Given the description of an element on the screen output the (x, y) to click on. 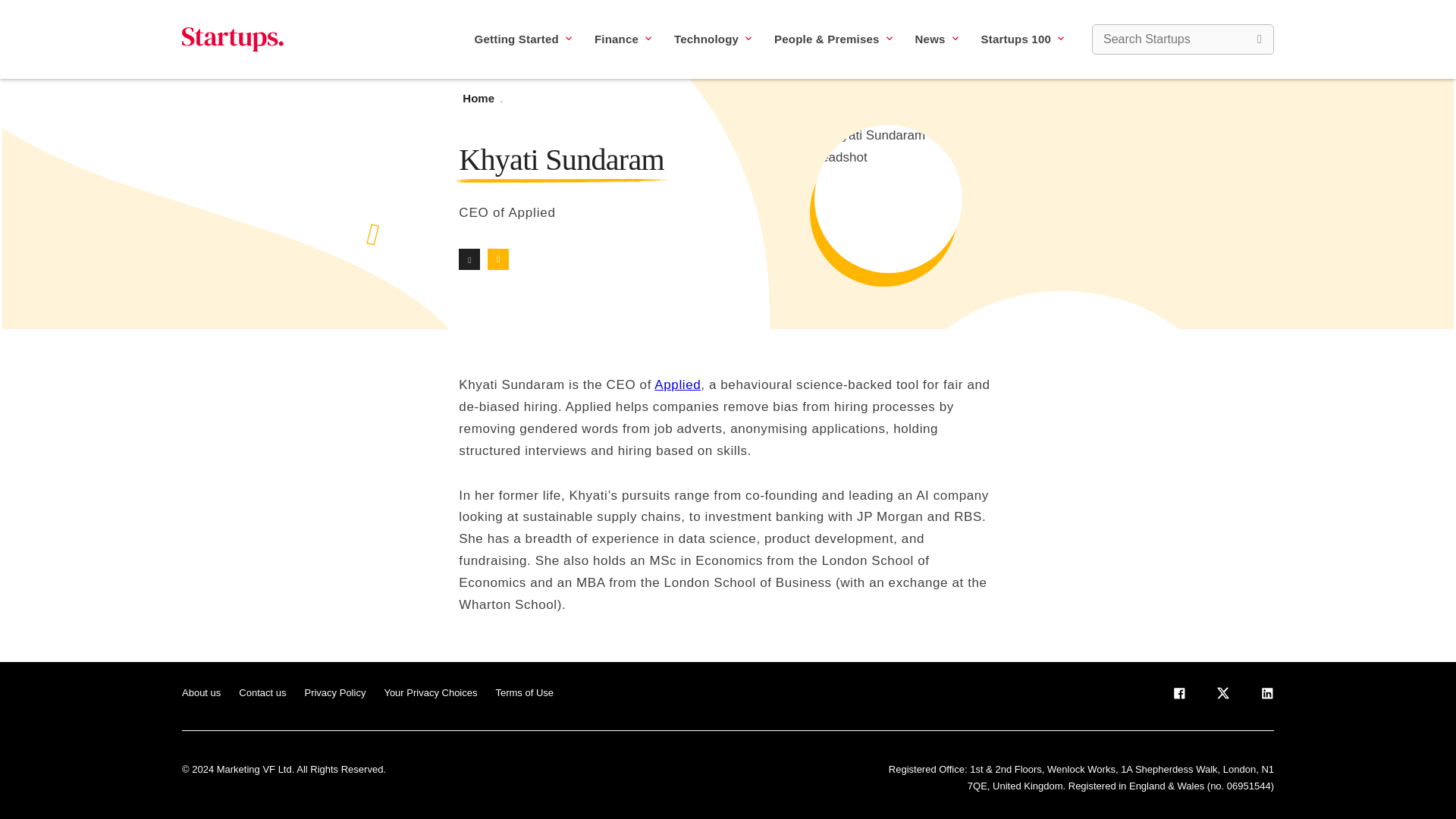
linkedin (1267, 696)
Getting Started (523, 39)
twitter-x (1222, 696)
facebook (1179, 696)
Startups (232, 39)
Finance (622, 39)
